Given the description of an element on the screen output the (x, y) to click on. 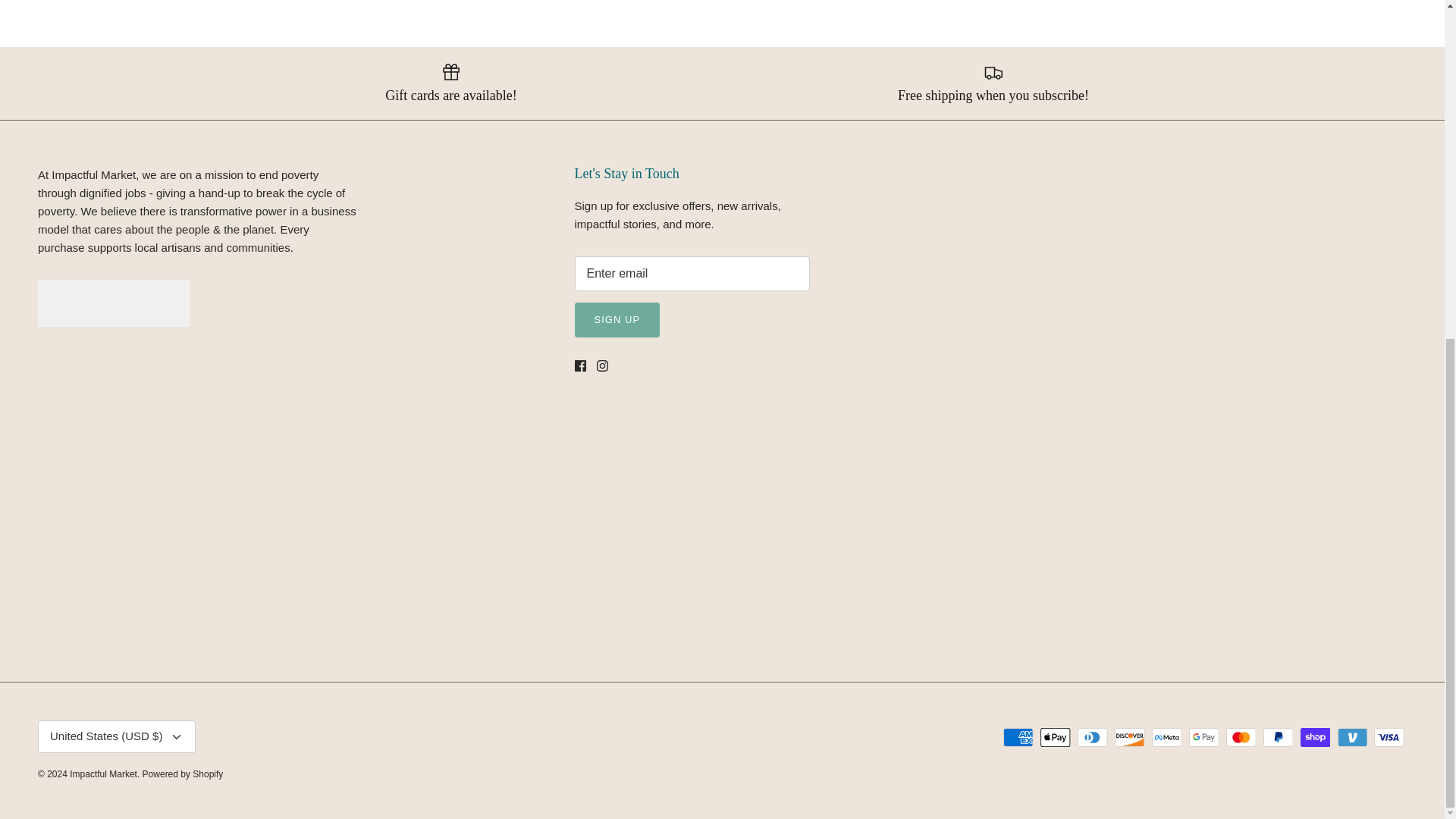
Mastercard (1240, 737)
American Express (1018, 737)
Discover (1129, 737)
Diners Club (1092, 737)
Google Pay (1203, 737)
Apple Pay (1055, 737)
Meta Pay (1166, 737)
Instagram (602, 365)
Facebook (580, 365)
